Given the description of an element on the screen output the (x, y) to click on. 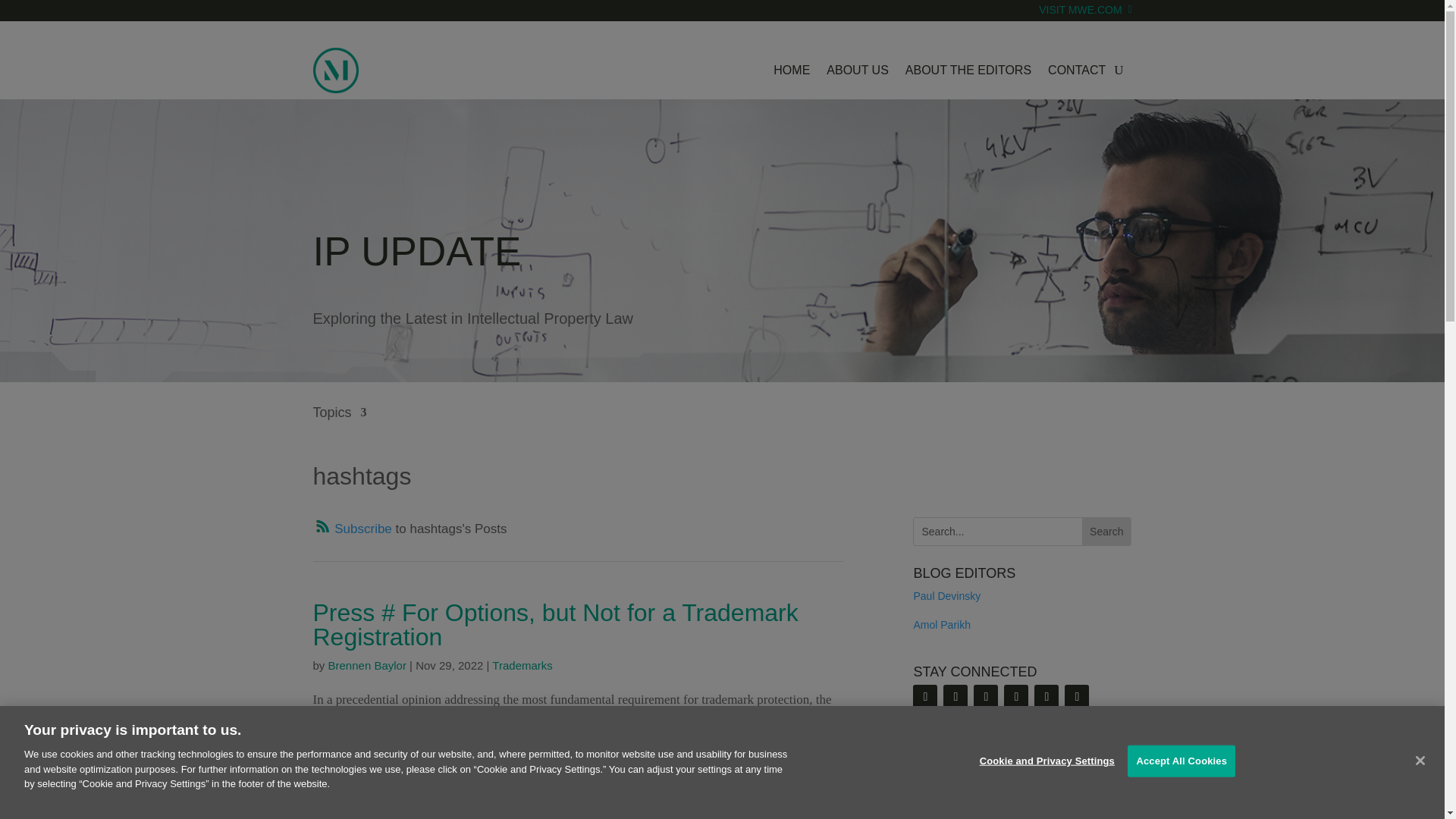
Follow on Youtube (1015, 696)
Search (1106, 531)
VISIT MWE.COM   (1085, 20)
Follow on X (985, 696)
Posts by Brennen Baylor (367, 665)
Follow on LinkedIn (955, 696)
ABOUT THE EDITORS (967, 70)
Follow on RSS (924, 696)
CONTACT (1076, 70)
Topics (339, 423)
